Given the description of an element on the screen output the (x, y) to click on. 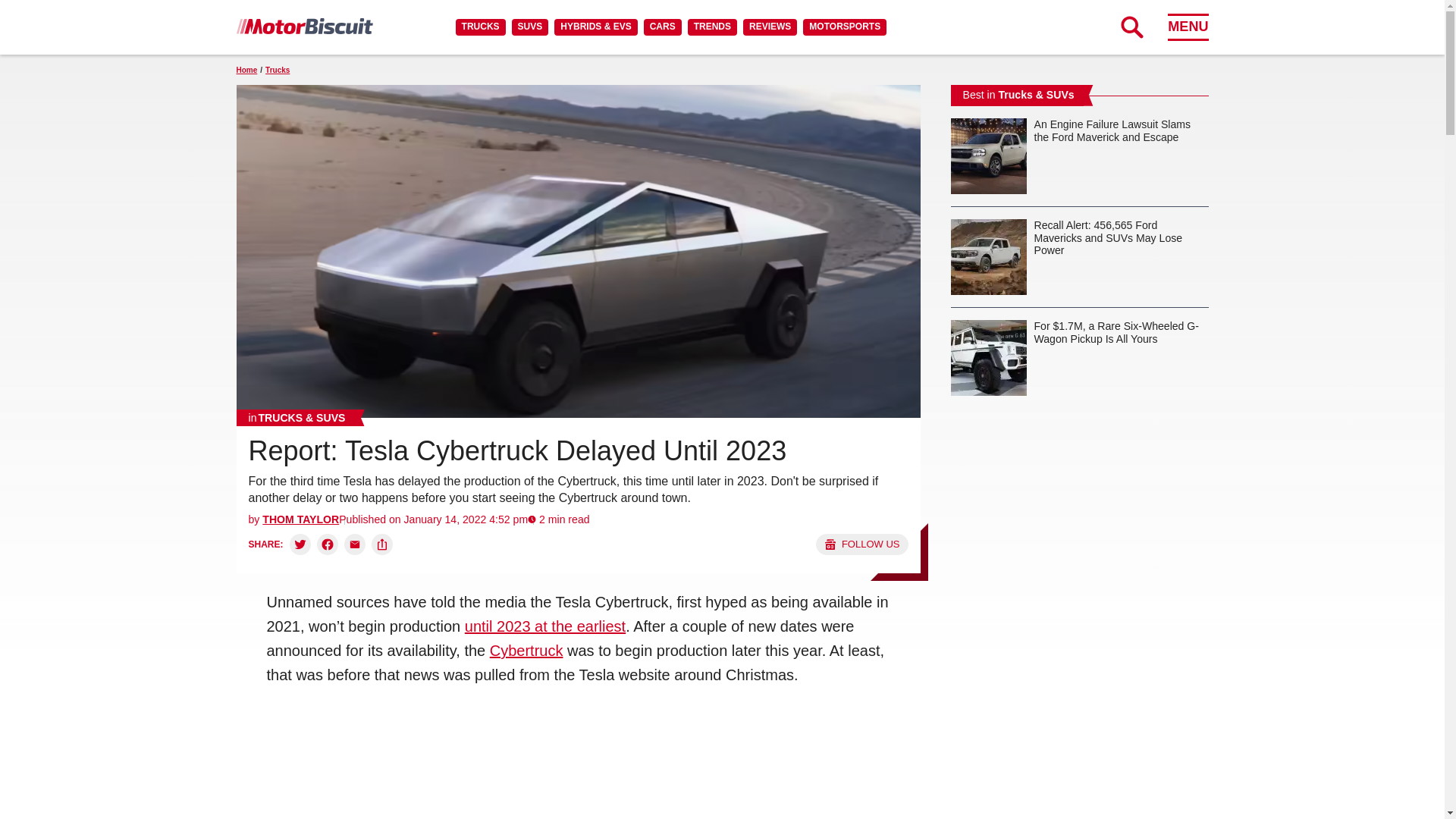
TRENDS (711, 26)
CARS (662, 26)
Expand Search (1131, 26)
TRUCKS (480, 26)
Copy link and share:  (382, 544)
SUVS (530, 26)
REVIEWS (769, 26)
MOTORSPORTS (844, 26)
MENU (1187, 26)
Follow us on Google News (861, 544)
MotorBiscuit (303, 26)
